Given the description of an element on the screen output the (x, y) to click on. 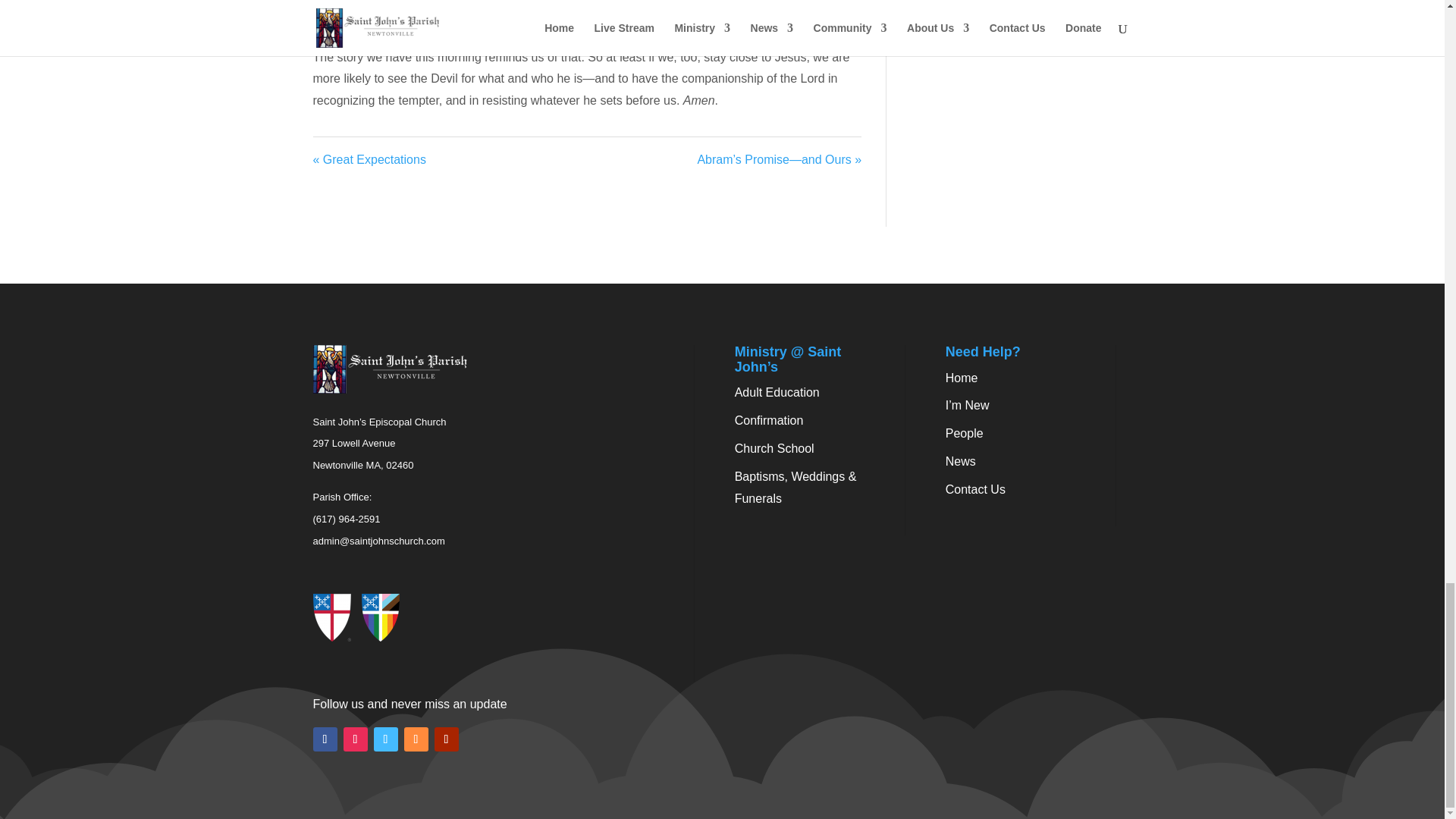
Follow on Vimeo (384, 739)
Follow on RSS (415, 739)
Page 4 (587, 56)
Follow on Youtube (445, 739)
Follow on Facebook (324, 739)
Follow on Instagram (354, 739)
